Given the description of an element on the screen output the (x, y) to click on. 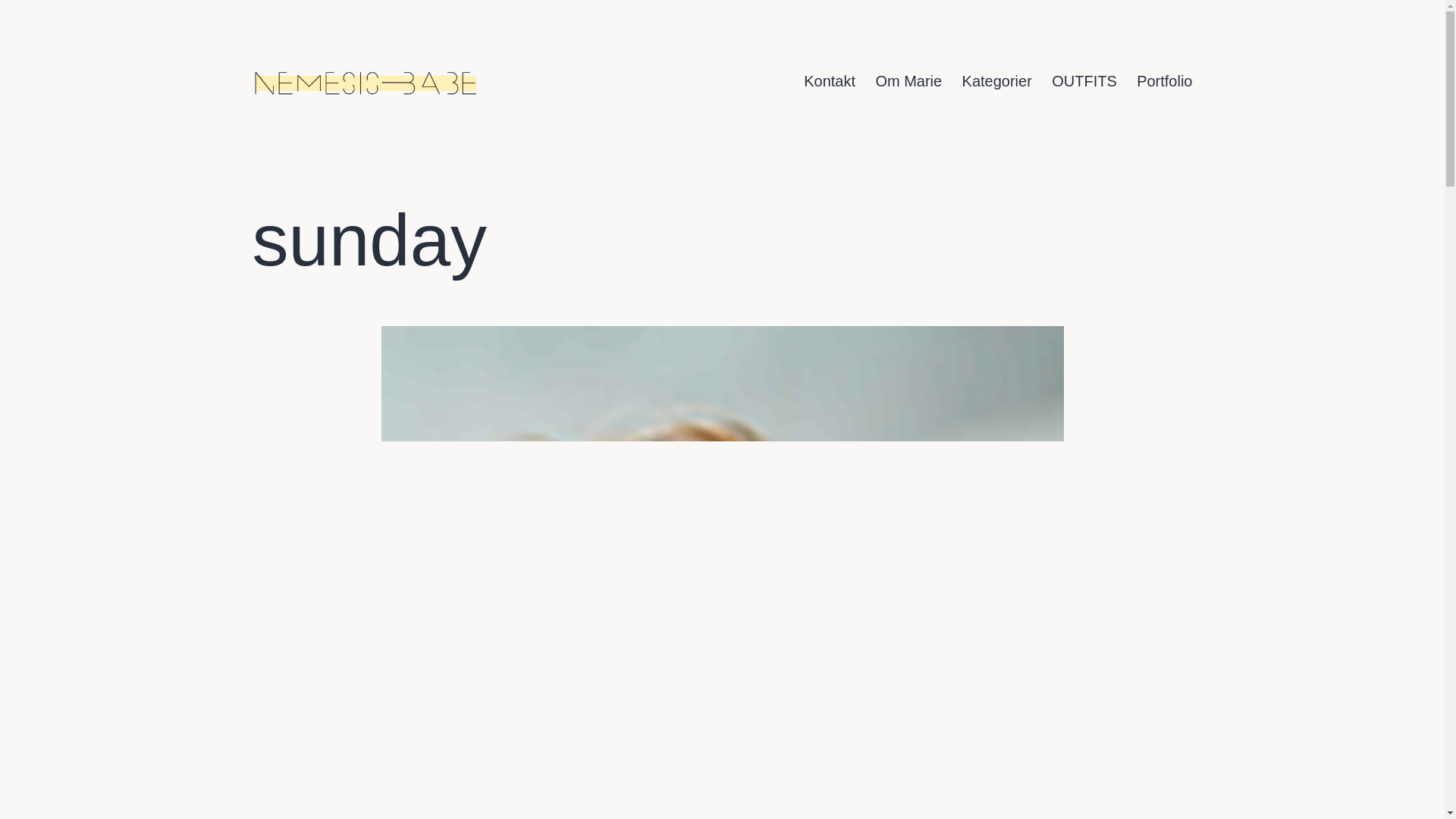
Portfolio (1164, 81)
OUTFITS (1084, 81)
Kategorier (997, 81)
Om Marie (908, 81)
Kontakt (828, 81)
